Given the description of an element on the screen output the (x, y) to click on. 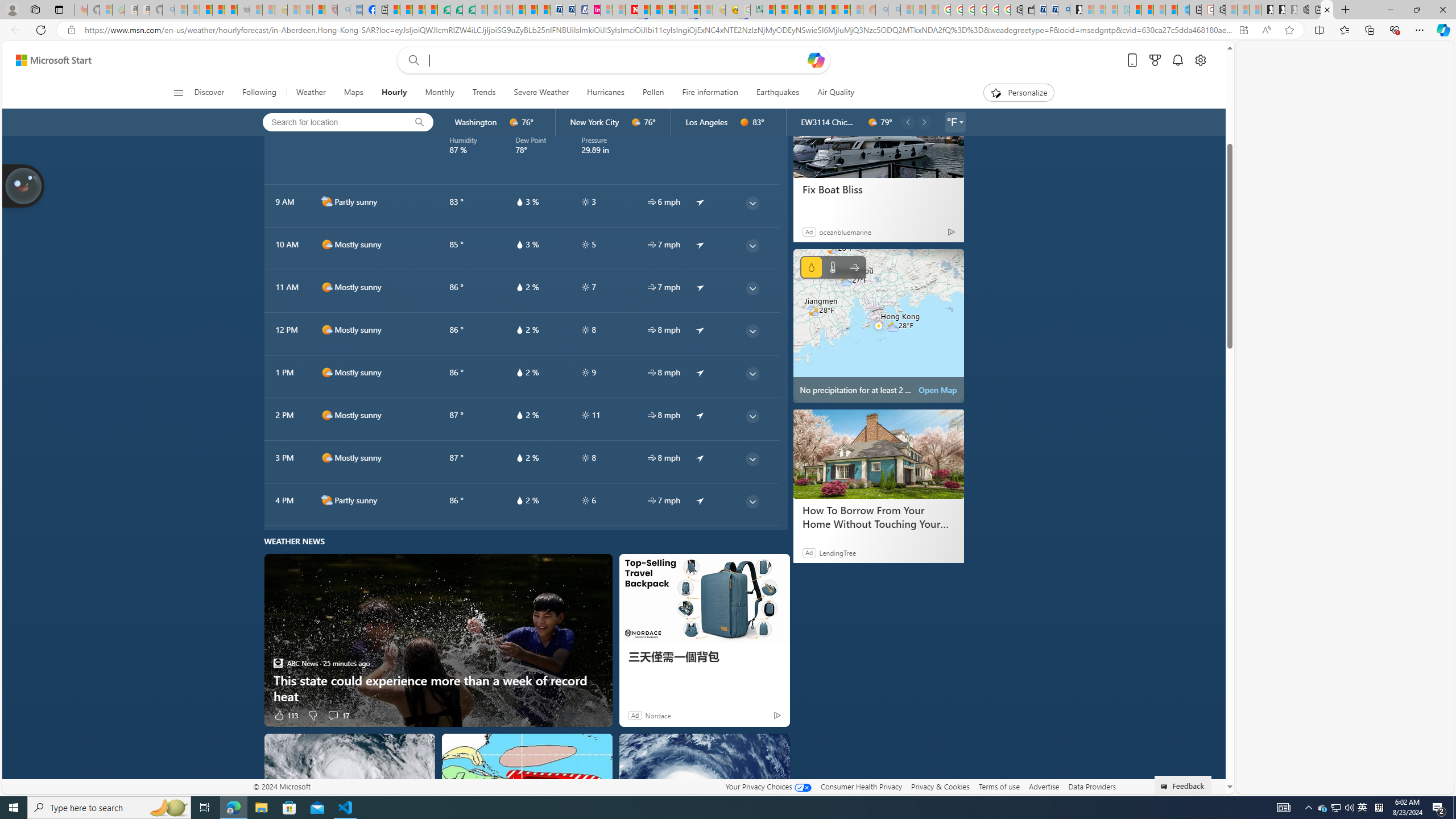
The Weather Channel - MSN (205, 9)
Data Providers (1091, 785)
ABC News (277, 662)
common/thinArrow (751, 501)
Latest Politics News & Archive | Newsweek.com (631, 9)
